Given the description of an element on the screen output the (x, y) to click on. 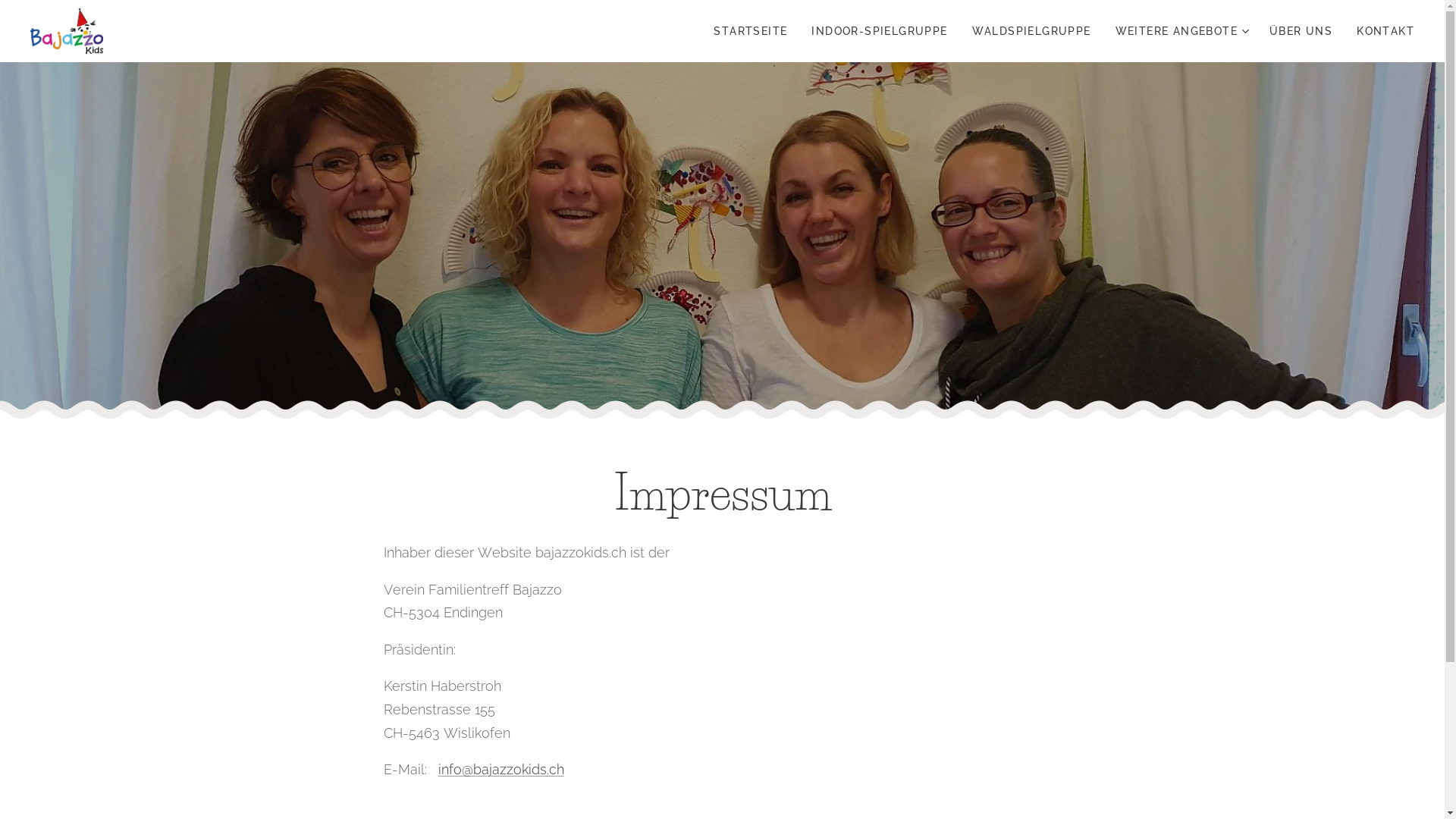
WEITERE ANGEBOTE Element type: text (1180, 31)
INDOOR-SPIELGRUPPE Element type: text (879, 31)
info@bajazzokids.ch Element type: text (500, 769)
KONTAKT Element type: text (1379, 31)
WALDSPIELGRUPPE Element type: text (1031, 31)
STARTSEITE Element type: text (754, 31)
